Given the description of an element on the screen output the (x, y) to click on. 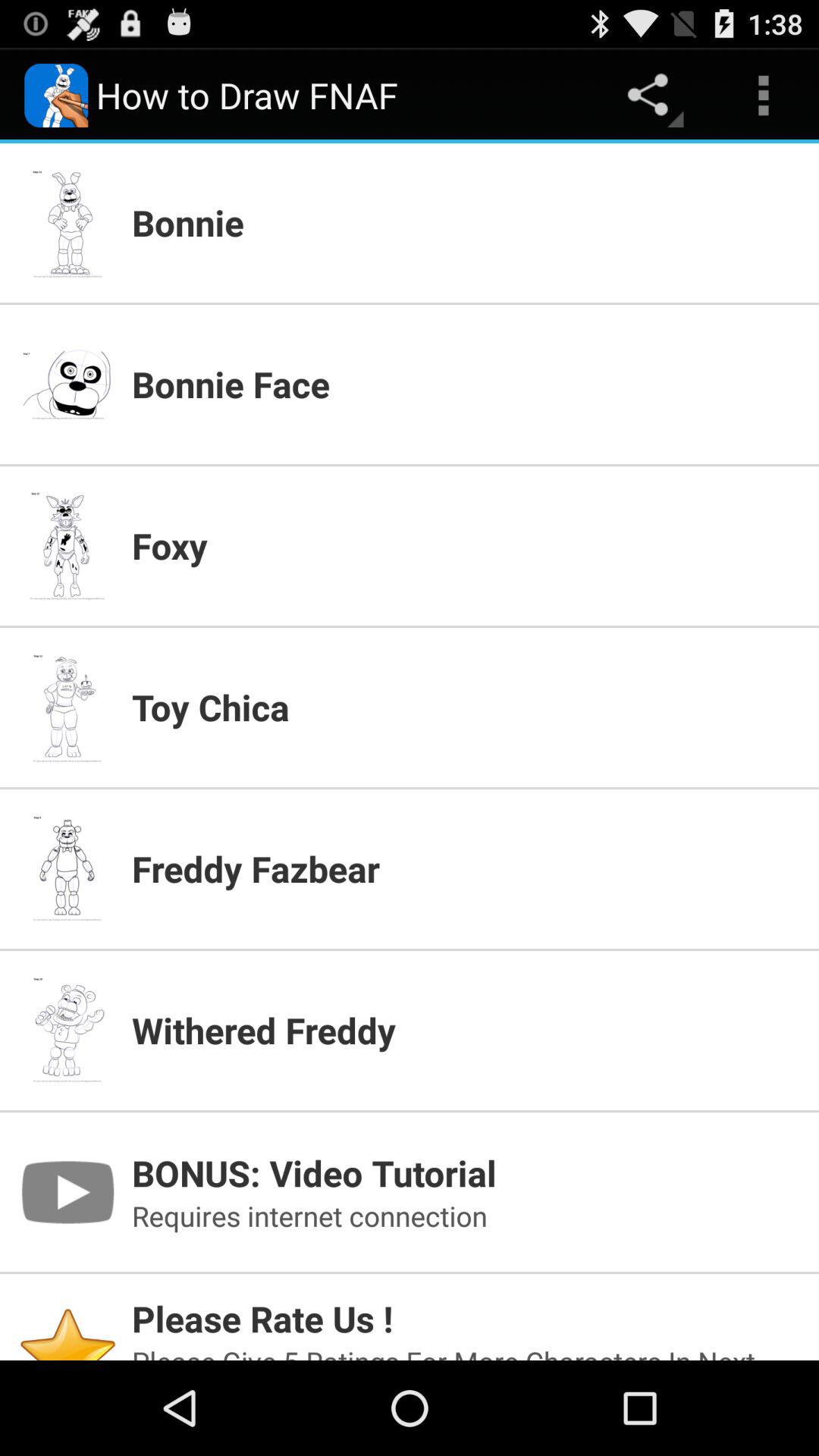
turn off the icon above withered freddy app (465, 868)
